Given the description of an element on the screen output the (x, y) to click on. 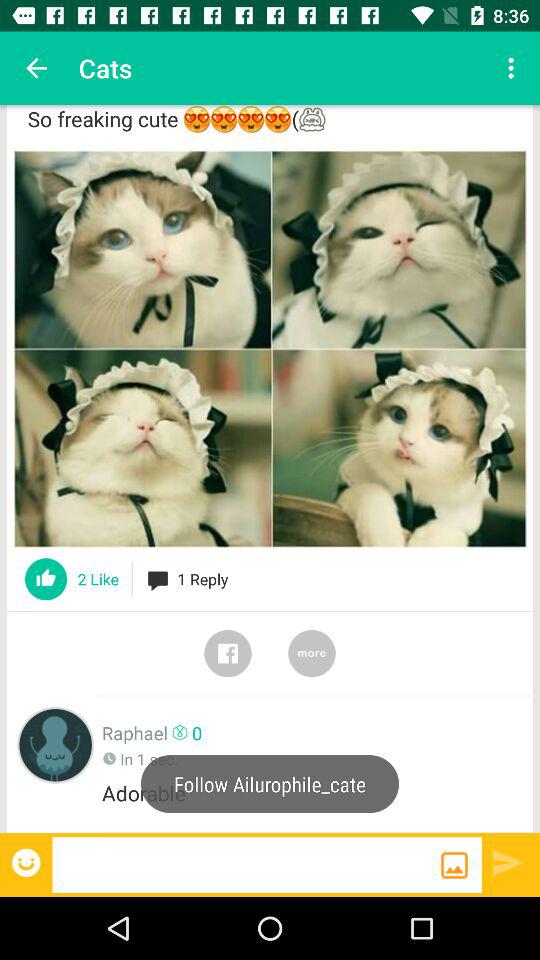
send message (508, 862)
